Given the description of an element on the screen output the (x, y) to click on. 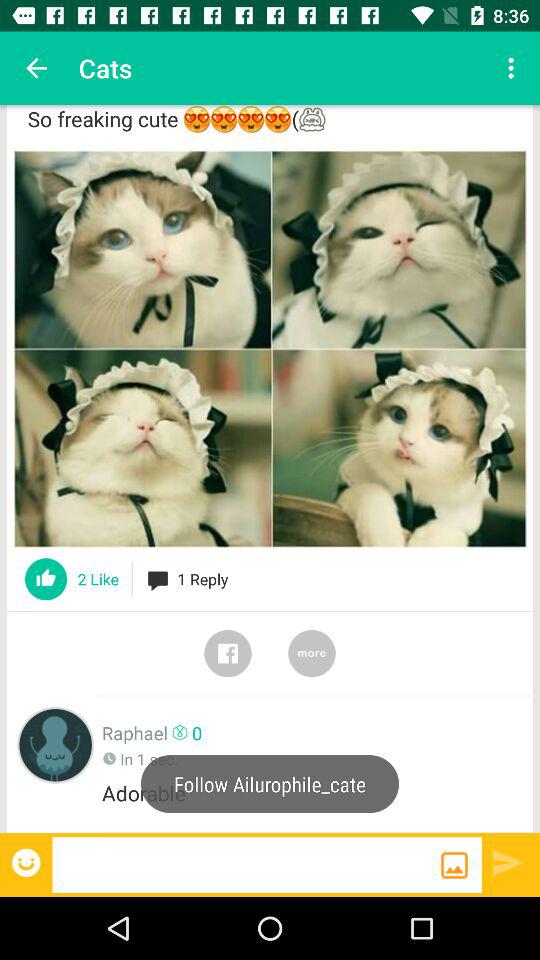
send message (508, 862)
